Given the description of an element on the screen output the (x, y) to click on. 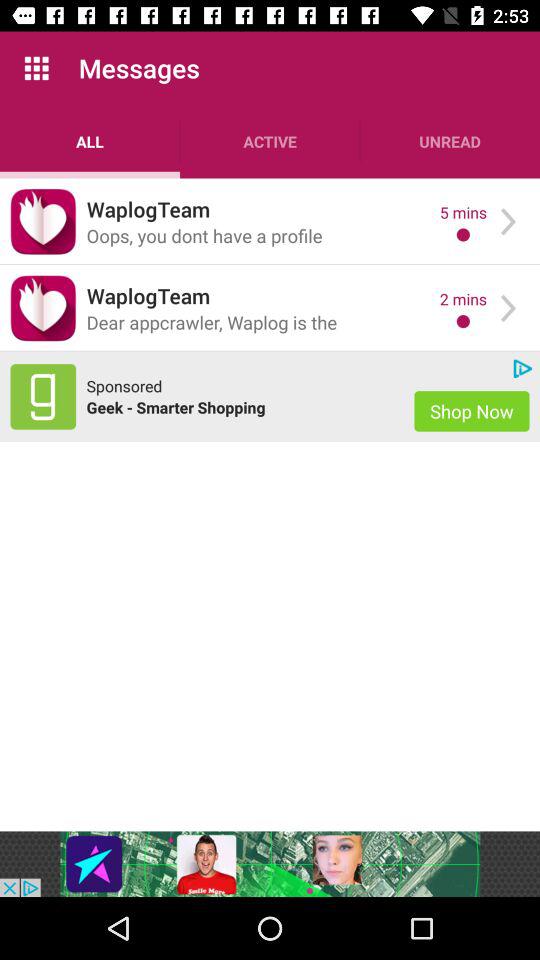
click the profile image (43, 308)
